Given the description of an element on the screen output the (x, y) to click on. 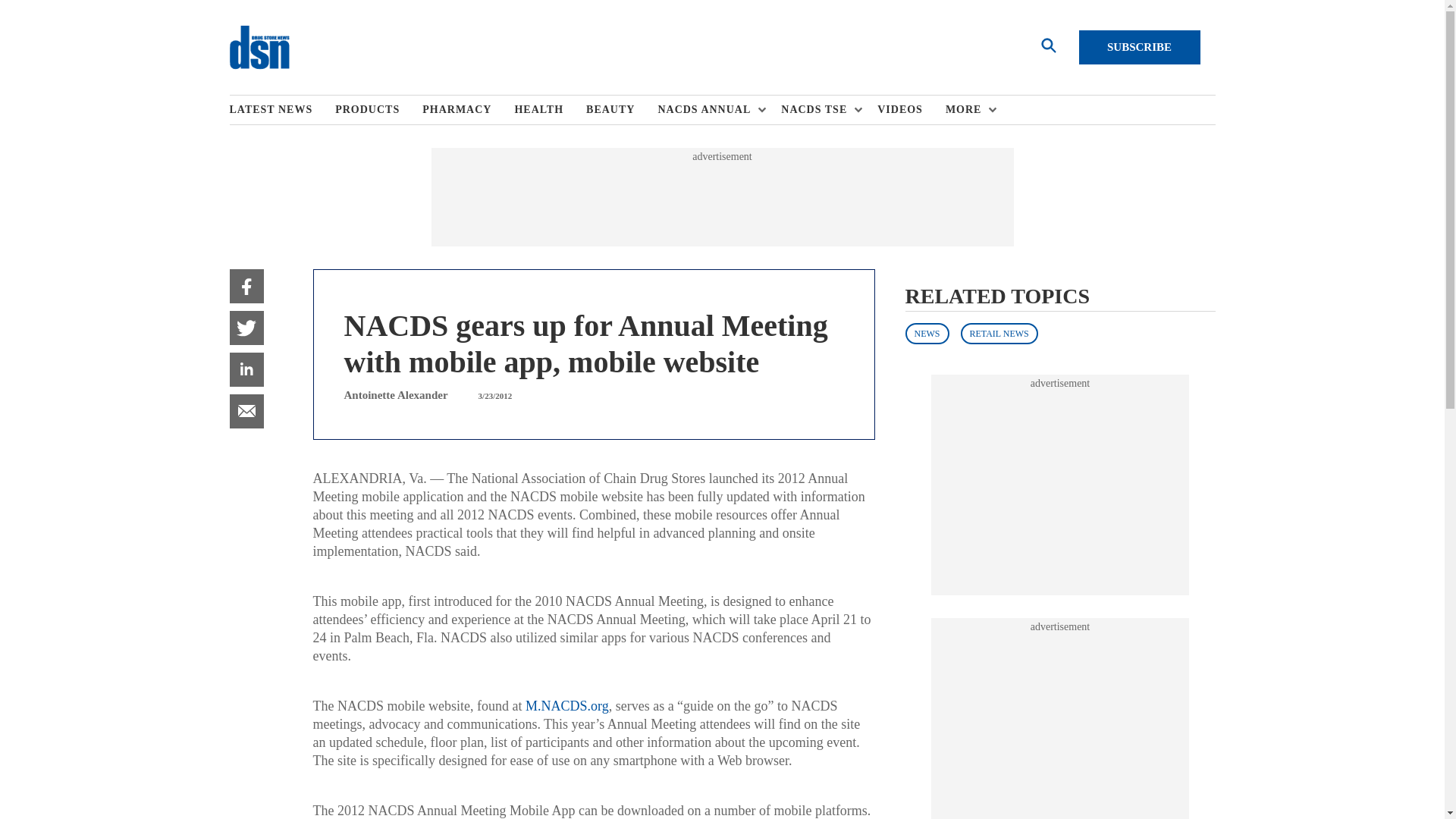
SUBSCRIBE (1138, 47)
M.NACDS.org (566, 705)
NACDS ANNUAL (708, 109)
email (245, 410)
NEWS (927, 332)
email (245, 410)
LATEST NEWS (281, 109)
PRODUCTS (378, 109)
PHARMACY (467, 109)
HEALTH (549, 109)
